Given the description of an element on the screen output the (x, y) to click on. 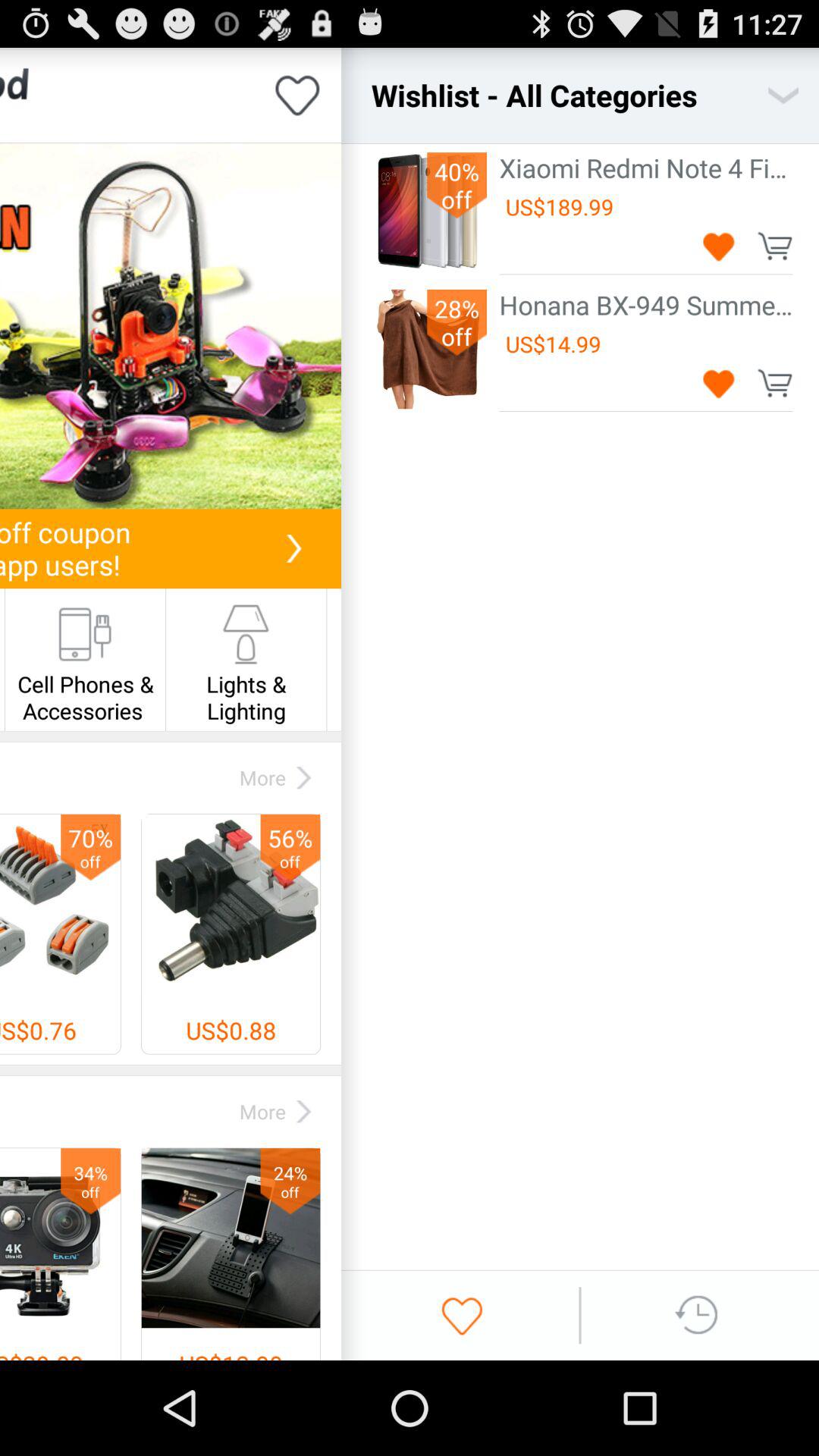
toggle wishlist status (297, 95)
